Given the description of an element on the screen output the (x, y) to click on. 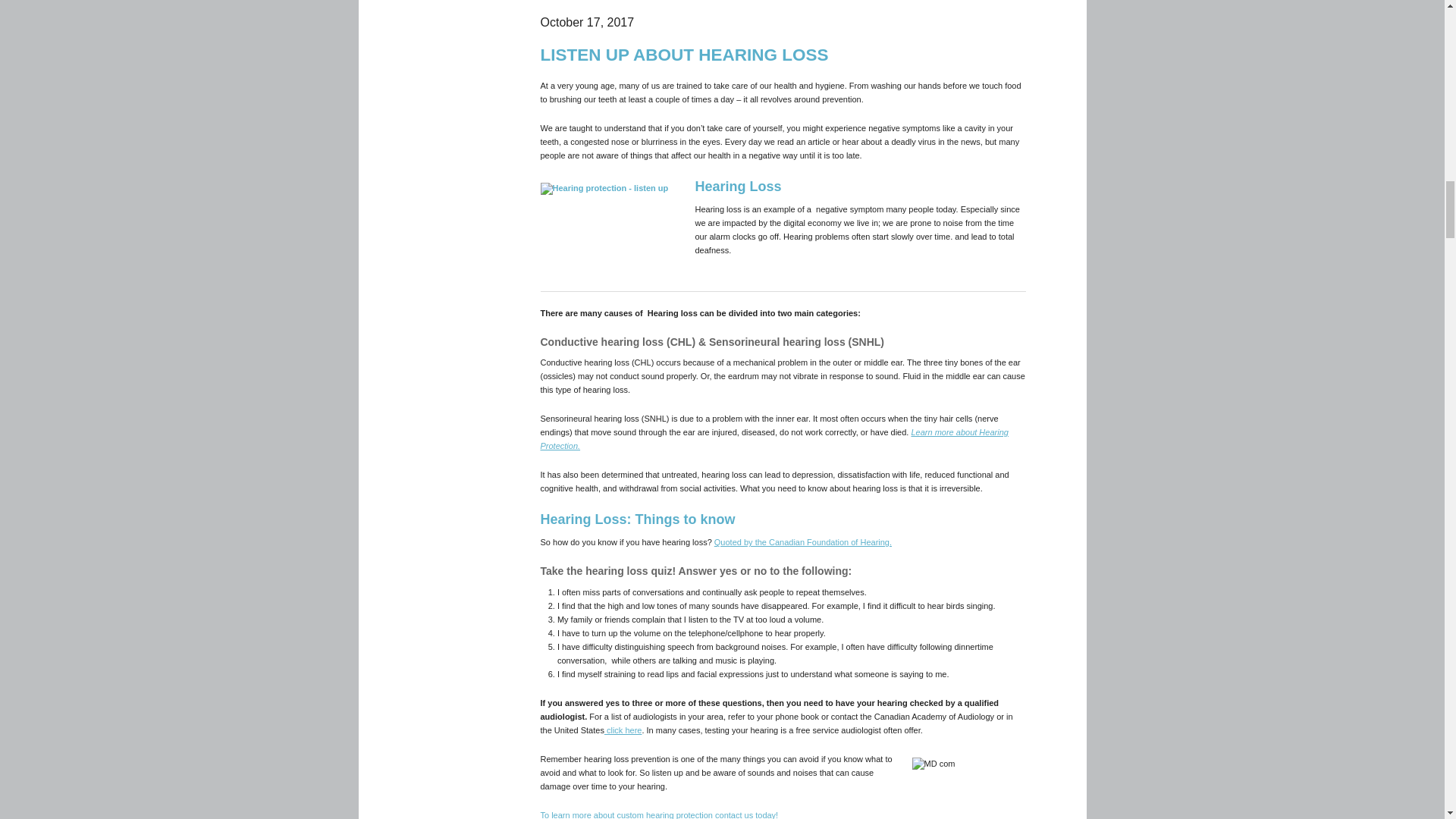
Hearing protection - listen up  (608, 233)
